Given the description of an element on the screen output the (x, y) to click on. 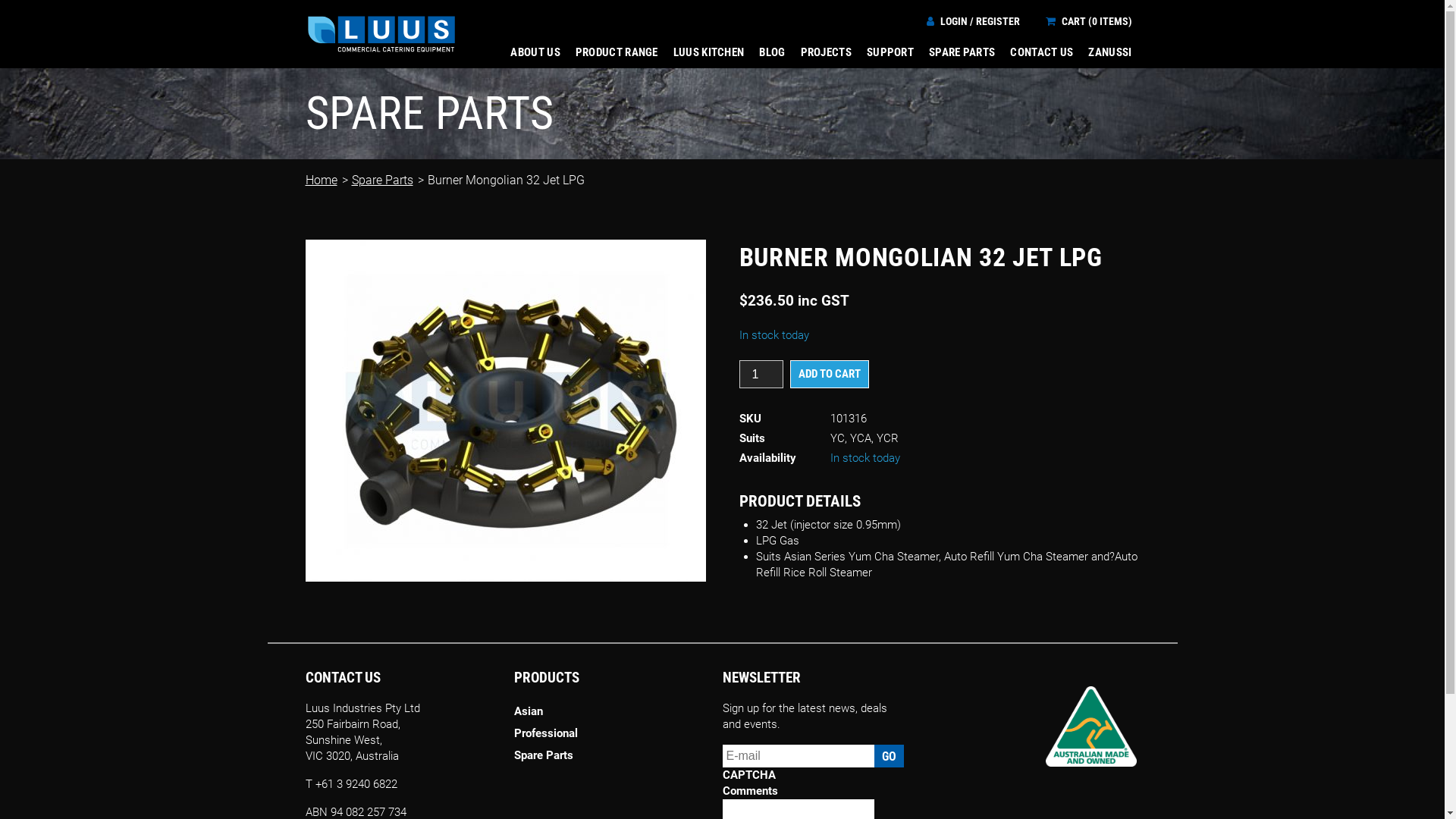
ADD TO CART Element type: text (829, 374)
Go Element type: text (888, 755)
CONTACT US Element type: text (1041, 52)
ZANUSSI Element type: text (1109, 52)
SUPPORT Element type: text (890, 52)
Spare Parts Element type: text (601, 755)
LUUS KITCHEN Element type: text (708, 52)
101313_Burner_Mong_32_Jet_Nat Element type: hover (504, 410)
Professional Element type: text (601, 733)
Asian Element type: text (601, 711)
Spare Parts Element type: text (382, 179)
BLOG Element type: text (771, 52)
SPARE PARTS Element type: text (961, 52)
LOGIN / REGISTER Element type: text (972, 21)
PRODUCT RANGE Element type: text (616, 52)
Home Element type: text (320, 179)
PROJECTS Element type: text (826, 52)
ABOUT US Element type: text (534, 52)
CART (0 ITEMS) Element type: text (1087, 21)
